Given the description of an element on the screen output the (x, y) to click on. 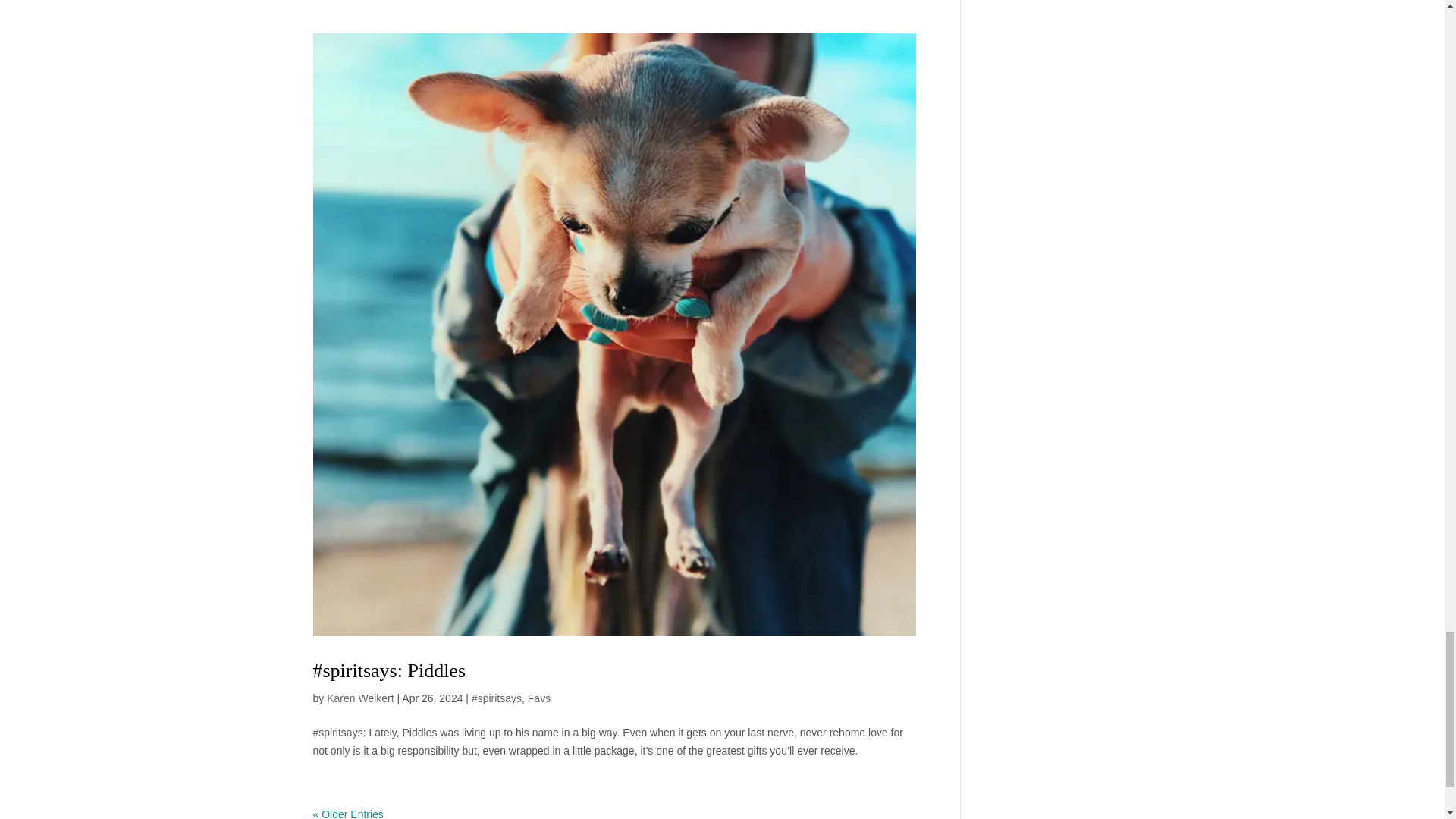
Posts by Karen Weikert (359, 698)
